Given the description of an element on the screen output the (x, y) to click on. 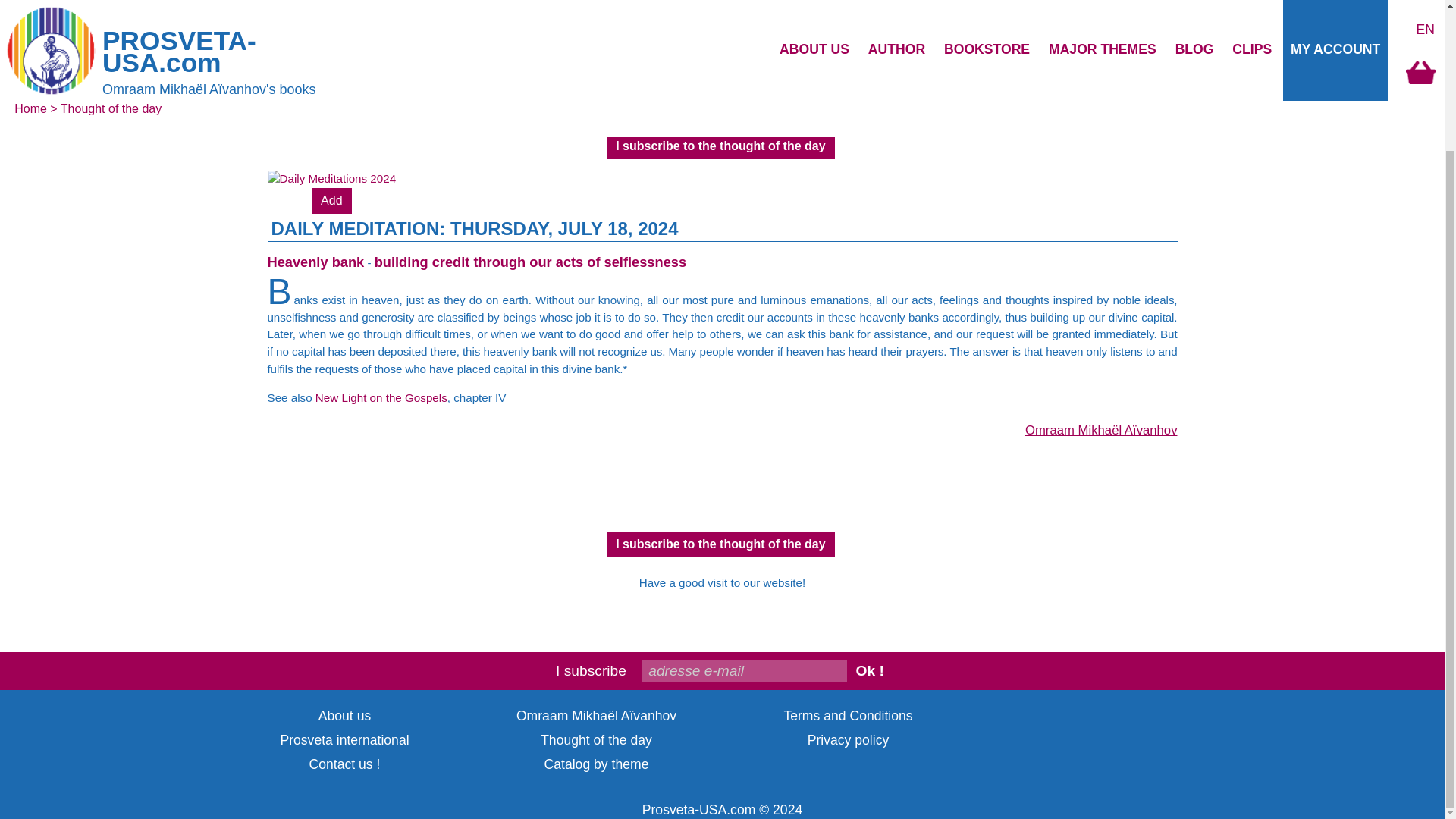
Privacy policy (848, 739)
Catalog by theme (596, 764)
Ok ! (869, 670)
Thought of the day (596, 739)
Privacy policy (848, 739)
Terms and Conditions (847, 715)
About us (344, 715)
I subscribe to the thought of the day (720, 145)
Contact us ! (344, 764)
New Light on the Gospels (380, 397)
Contact us ! (344, 764)
About us (344, 715)
Thought of the day (596, 739)
New Light on the Gospels (380, 397)
Add (330, 200)
